Given the description of an element on the screen output the (x, y) to click on. 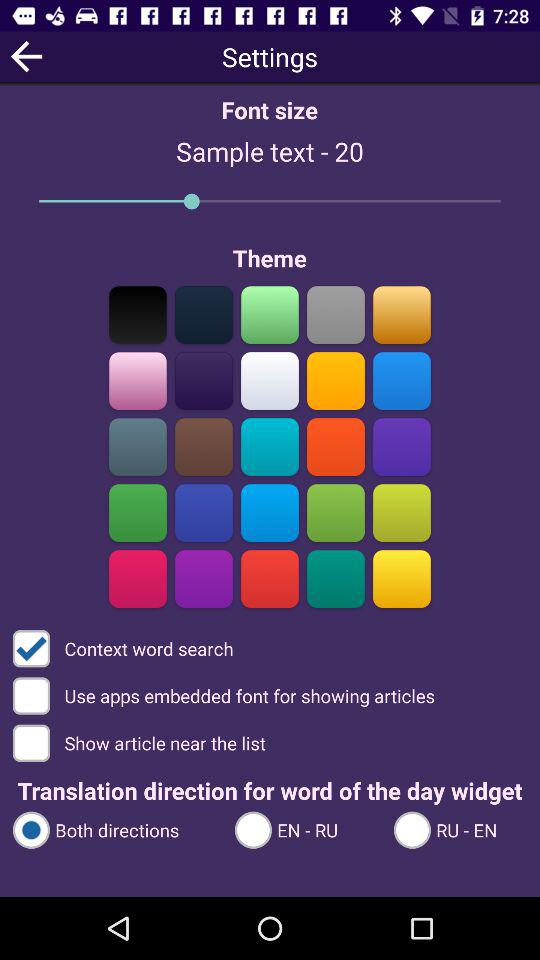
theme change option (401, 578)
